Given the description of an element on the screen output the (x, y) to click on. 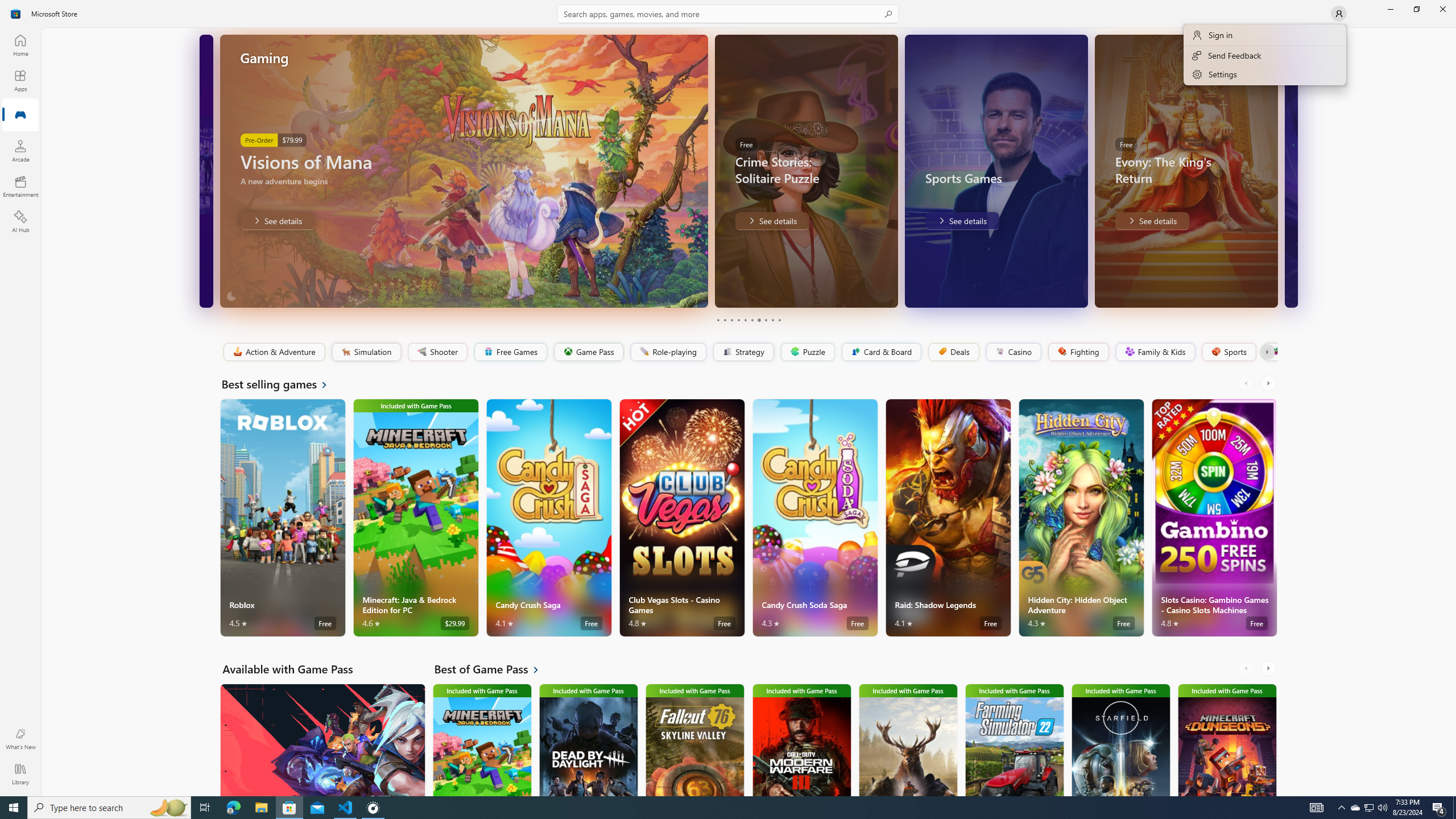
Casino (1013, 352)
Card & Board (880, 352)
Simulation (365, 352)
Pager (748, 319)
Available with Game Pass. VALORANT (322, 739)
Shooter (436, 352)
AutomationID: LeftScrollButton (1246, 668)
Sports (1228, 352)
Family & Kids (1154, 352)
Page 4 (738, 319)
AutomationID: NavigationControl (728, 398)
